Given the description of an element on the screen output the (x, y) to click on. 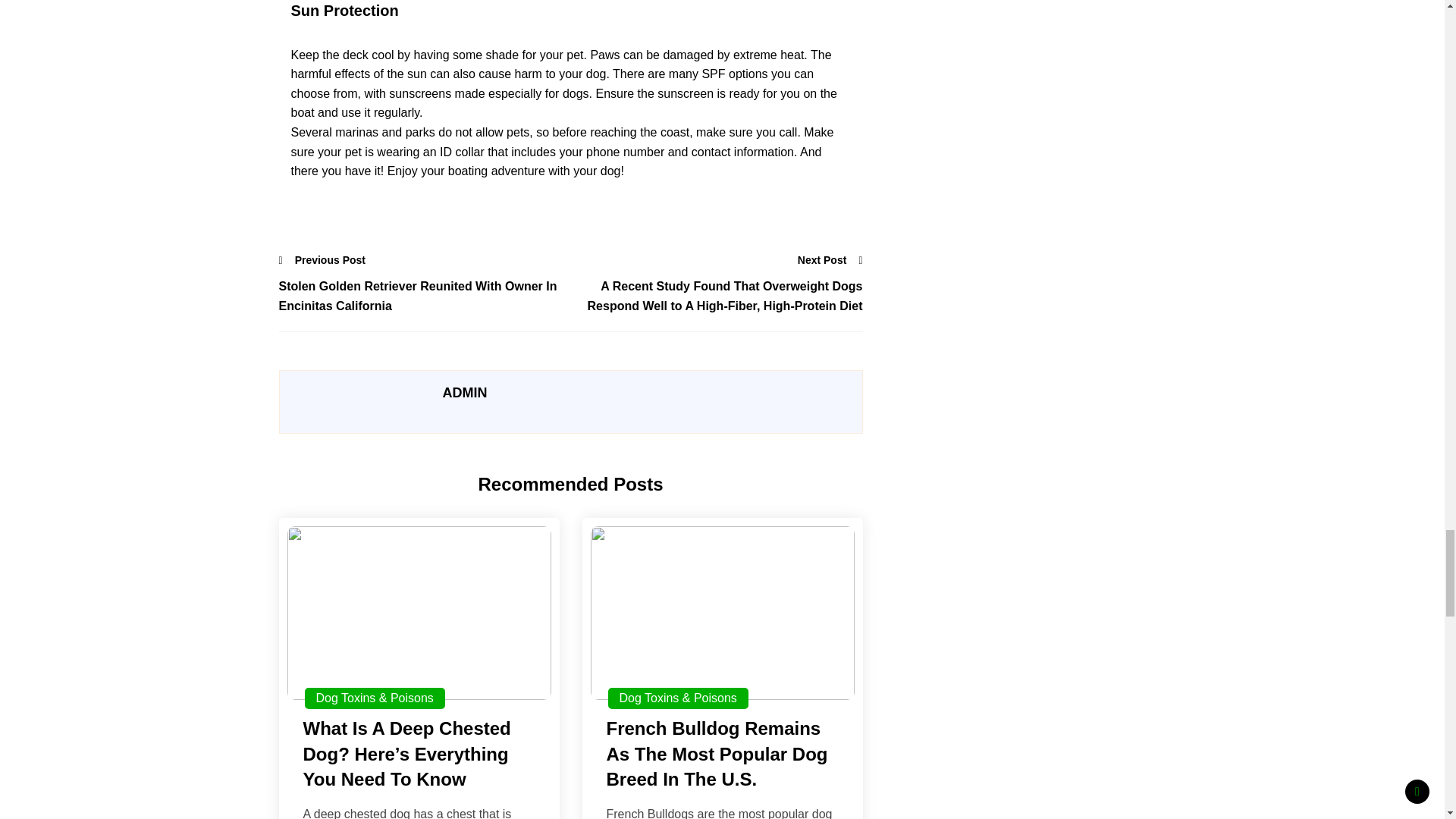
Next Post (830, 259)
Previous Post (322, 259)
